Given the description of an element on the screen output the (x, y) to click on. 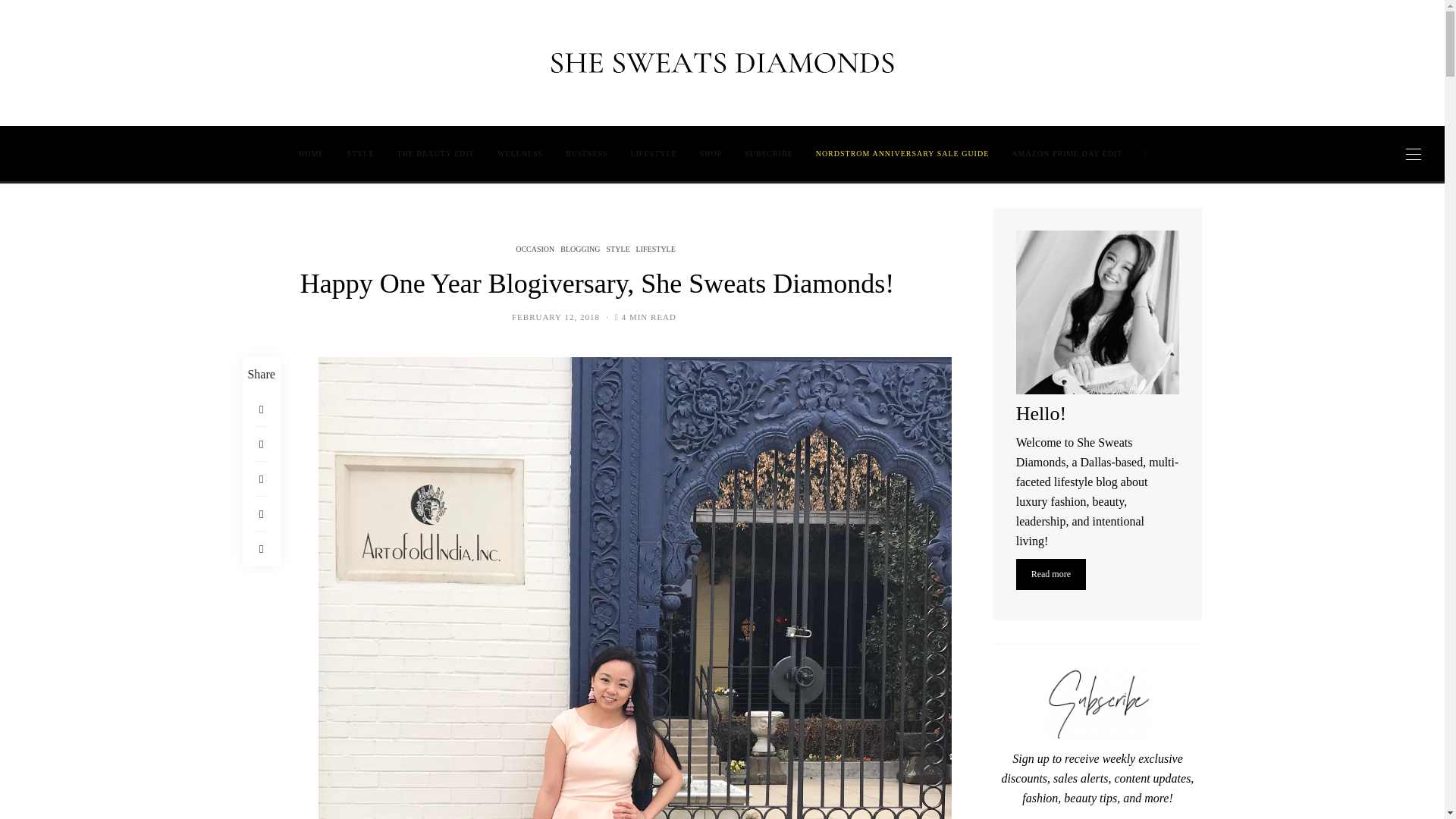
THE BEAUTY EDIT (435, 153)
WELLNESS (520, 153)
STYLE (359, 153)
